Given the description of an element on the screen output the (x, y) to click on. 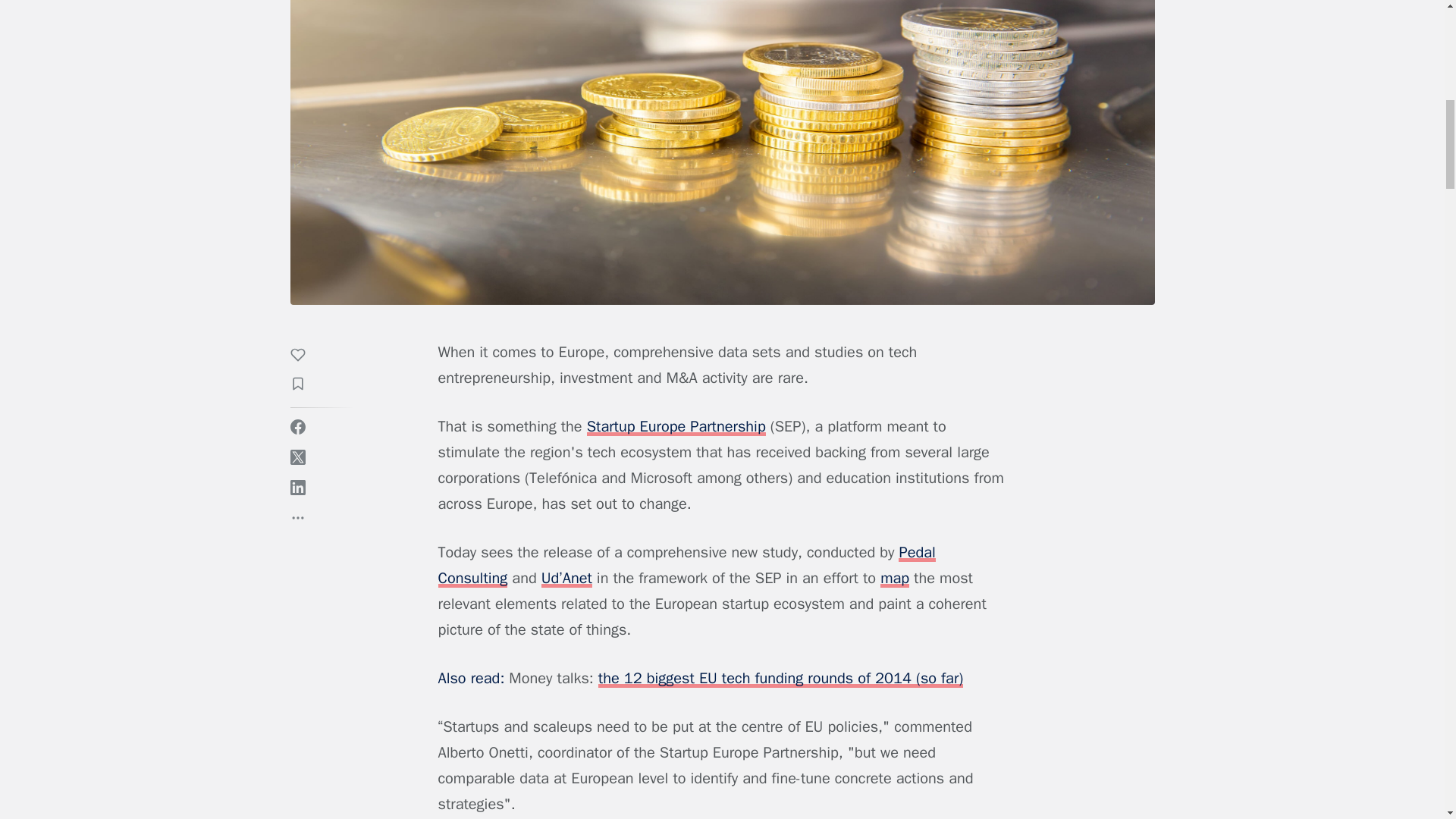
Like (304, 356)
Add to collection (304, 385)
Share on Facebook (296, 426)
Share on Twitter (296, 457)
Share on Linkedin (296, 487)
